Given the description of an element on the screen output the (x, y) to click on. 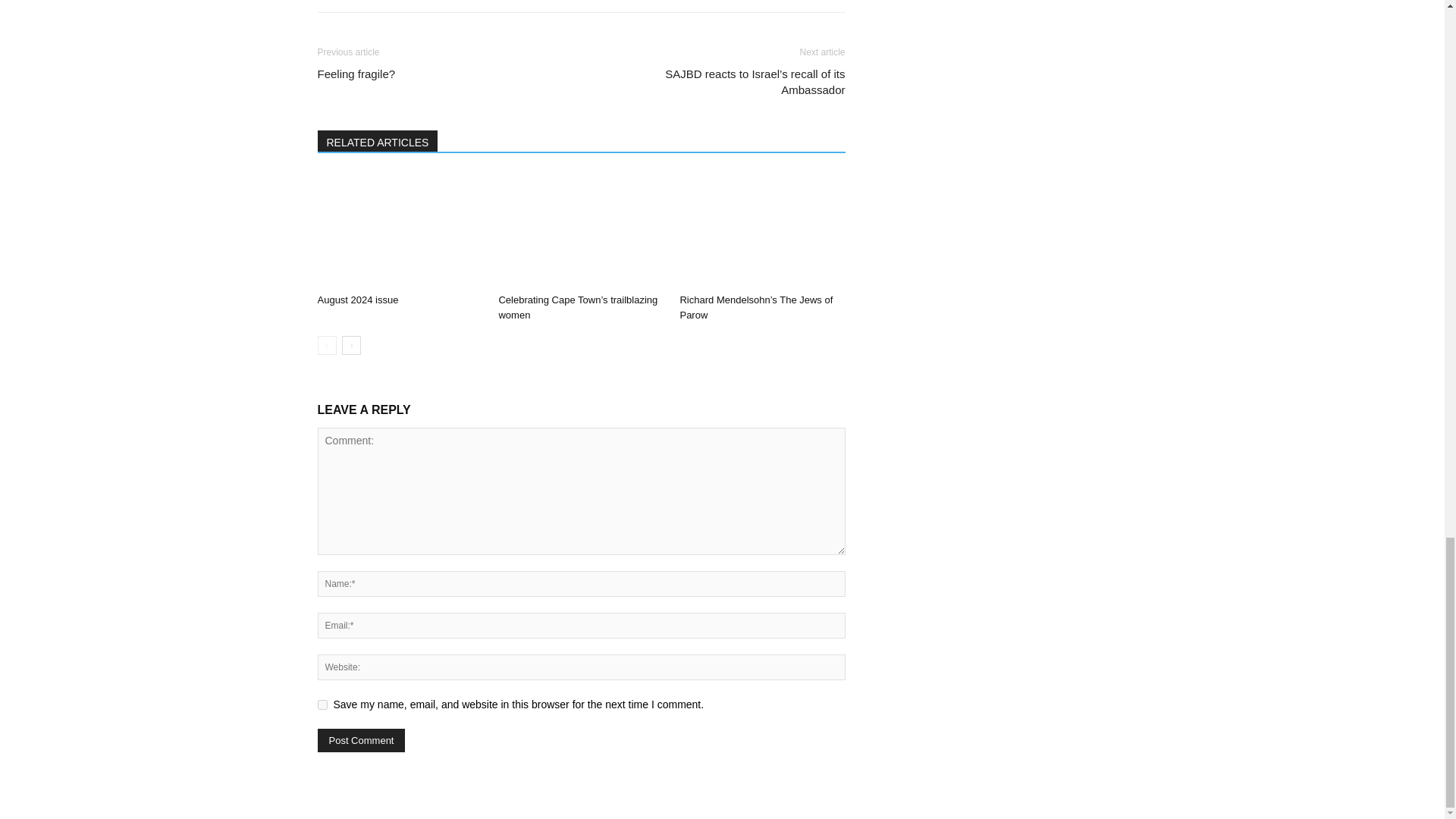
Post Comment (360, 740)
yes (321, 705)
